Given the description of an element on the screen output the (x, y) to click on. 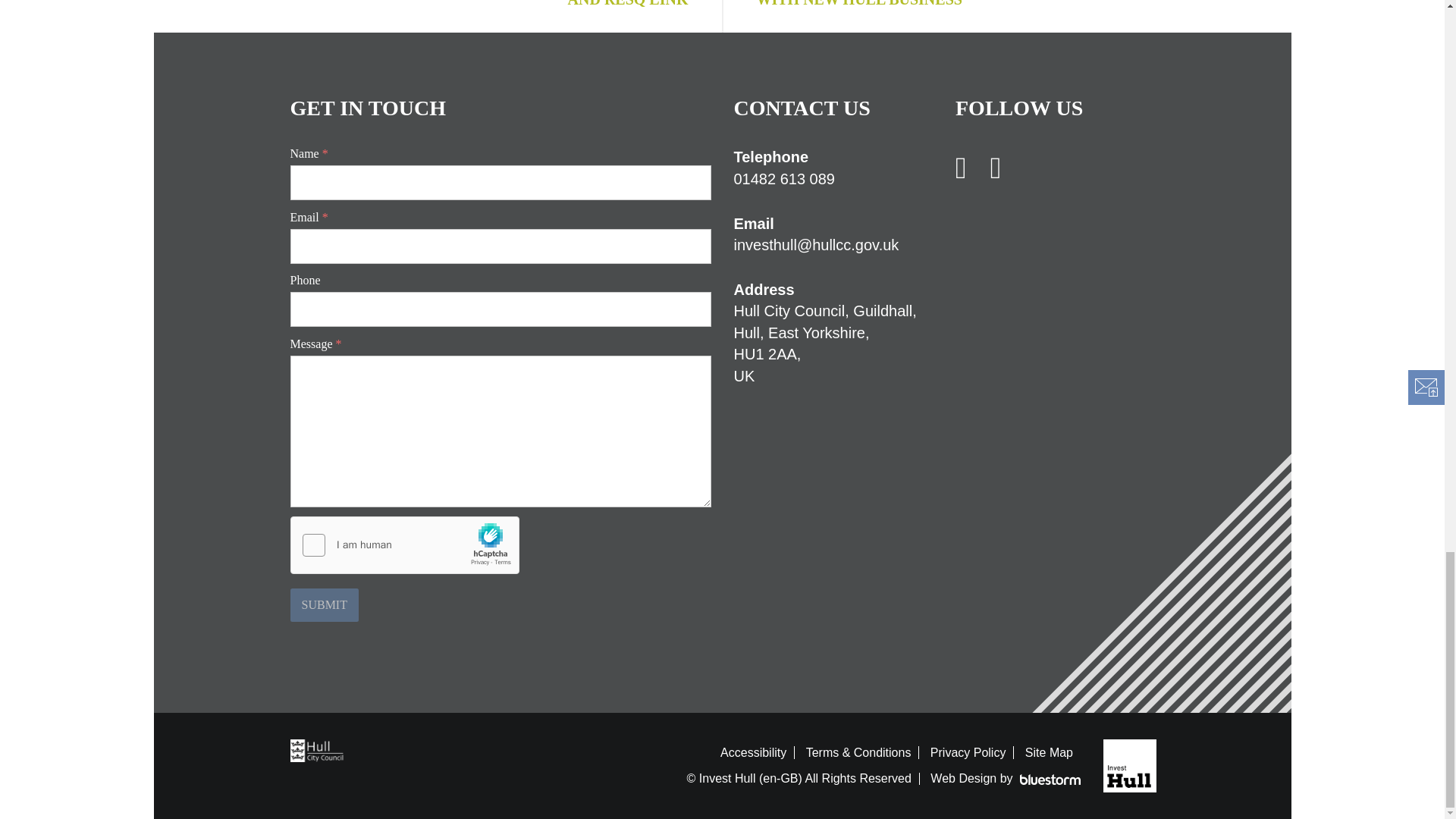
SUBMIT (323, 604)
Widget containing checkbox for hCaptcha security challenge (404, 545)
Hull City Council (319, 748)
